Given the description of an element on the screen output the (x, y) to click on. 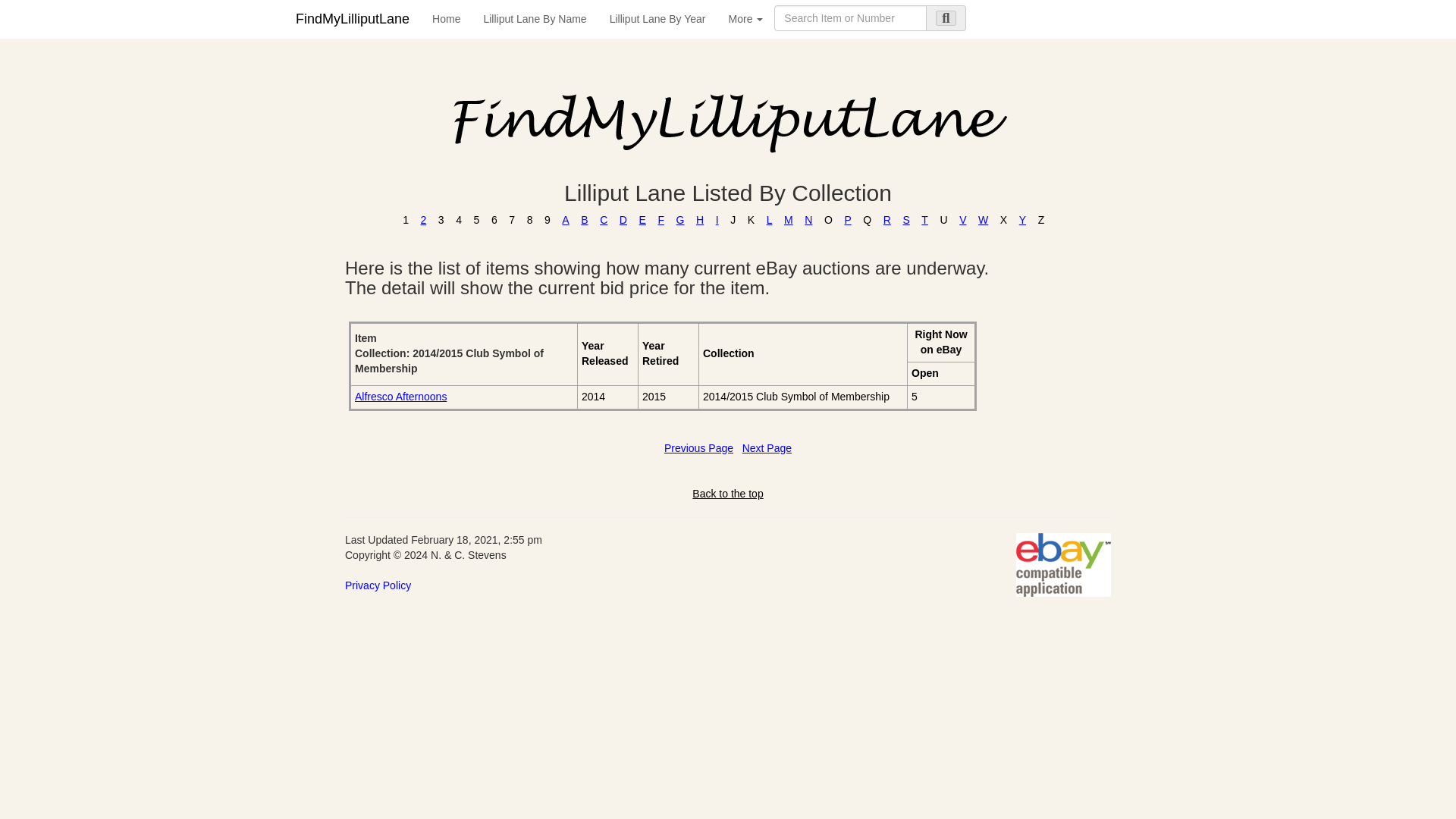
Lilliput Lane By Year (657, 18)
List of all Lilliput Lane by Year (657, 18)
Back to the home page (445, 18)
Your Item or Number must be at least 3 characters long (850, 17)
Home (445, 18)
FindMyLilliputLane (351, 18)
More (745, 18)
List of all Lilliput Lane by Name (533, 18)
Lilliput Lane By Name (533, 18)
